Given the description of an element on the screen output the (x, y) to click on. 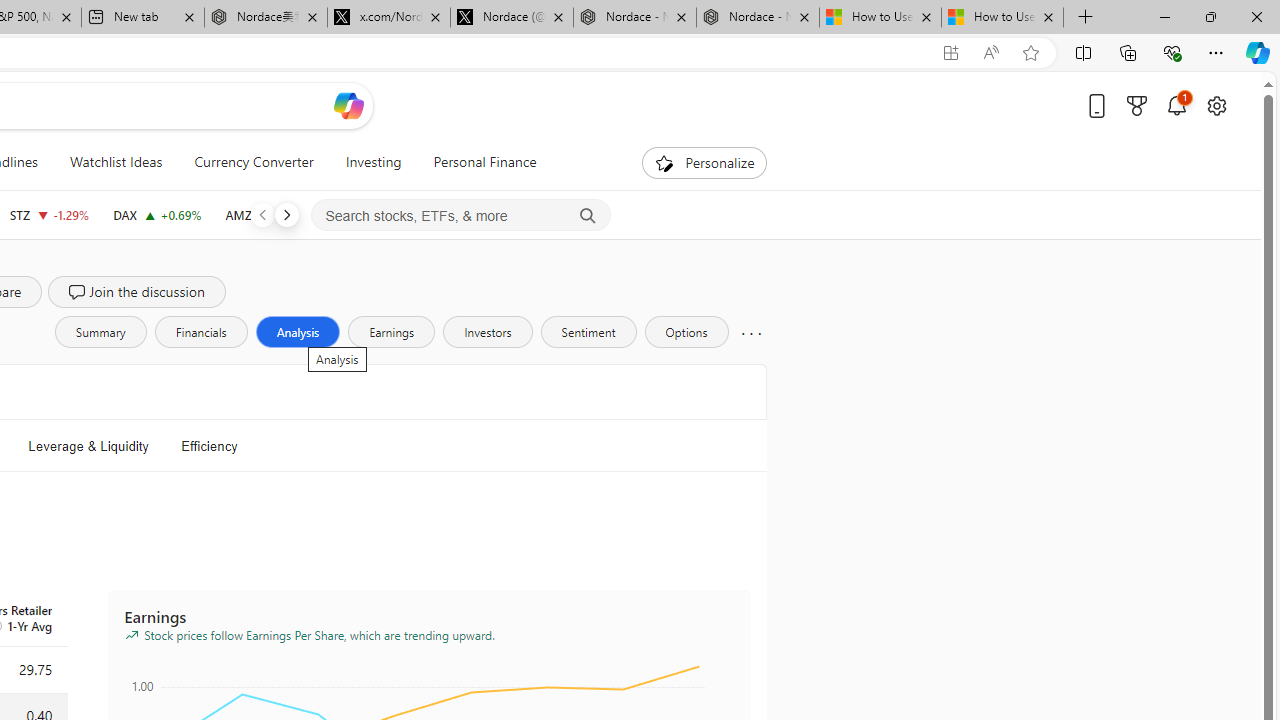
Investing (373, 162)
Previous (262, 214)
Summary (100, 331)
Financials (200, 331)
